Given the description of an element on the screen output the (x, y) to click on. 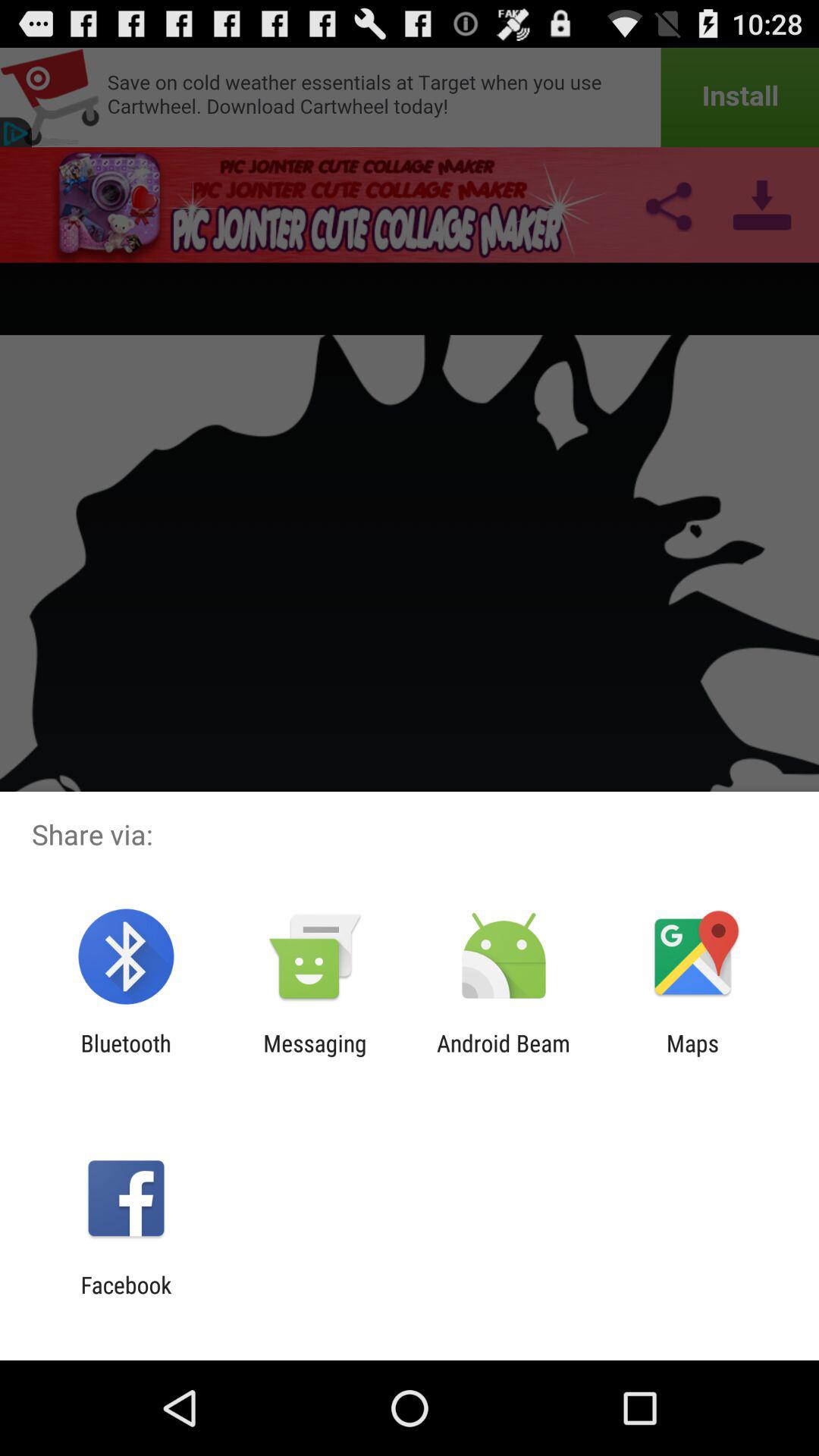
tap item to the left of maps icon (503, 1056)
